Given the description of an element on the screen output the (x, y) to click on. 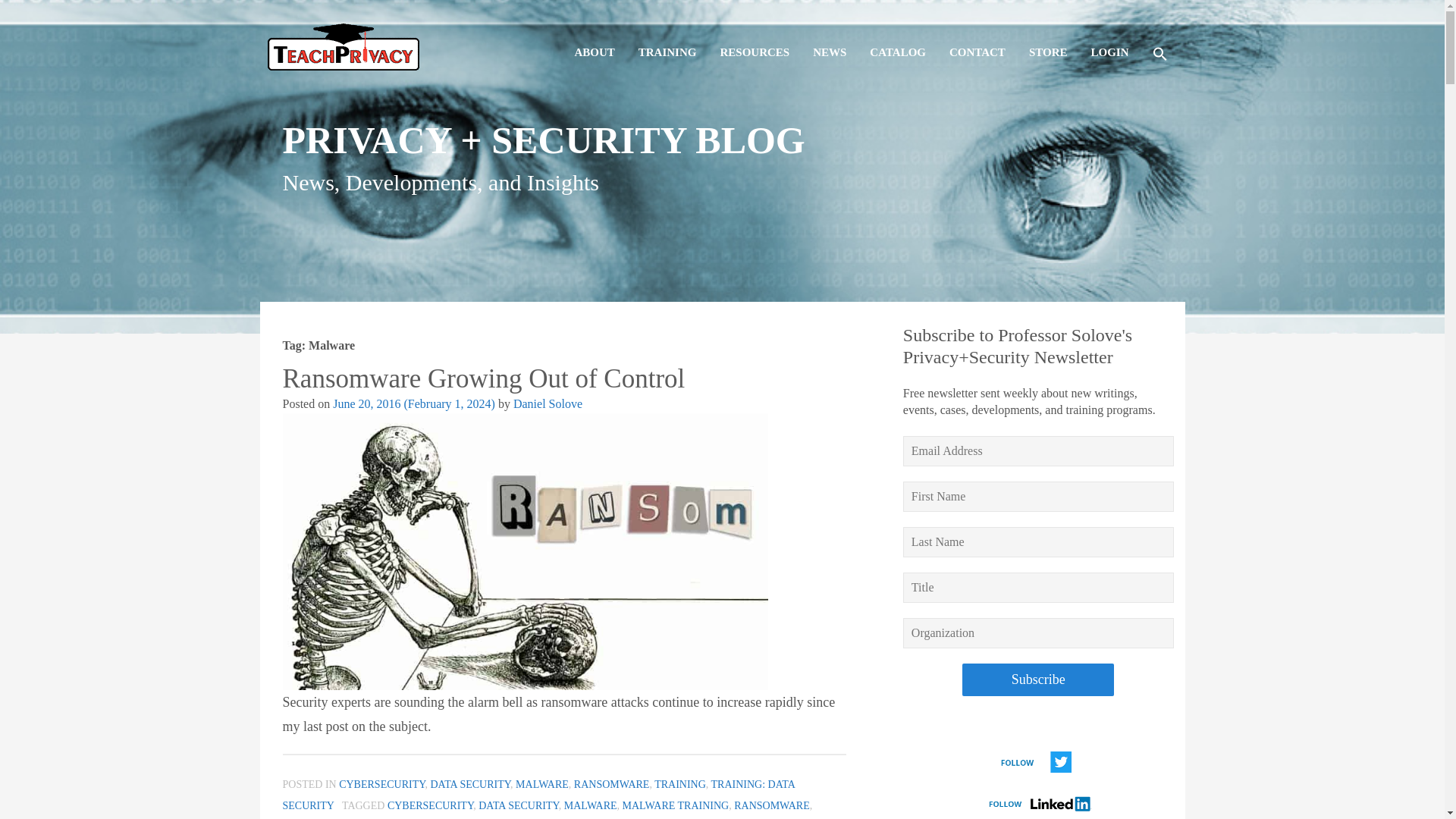
ABOUT (593, 39)
RESOURCES (753, 39)
Training (667, 39)
About (593, 39)
TRAINING (667, 39)
Subscribe (1037, 679)
